Given the description of an element on the screen output the (x, y) to click on. 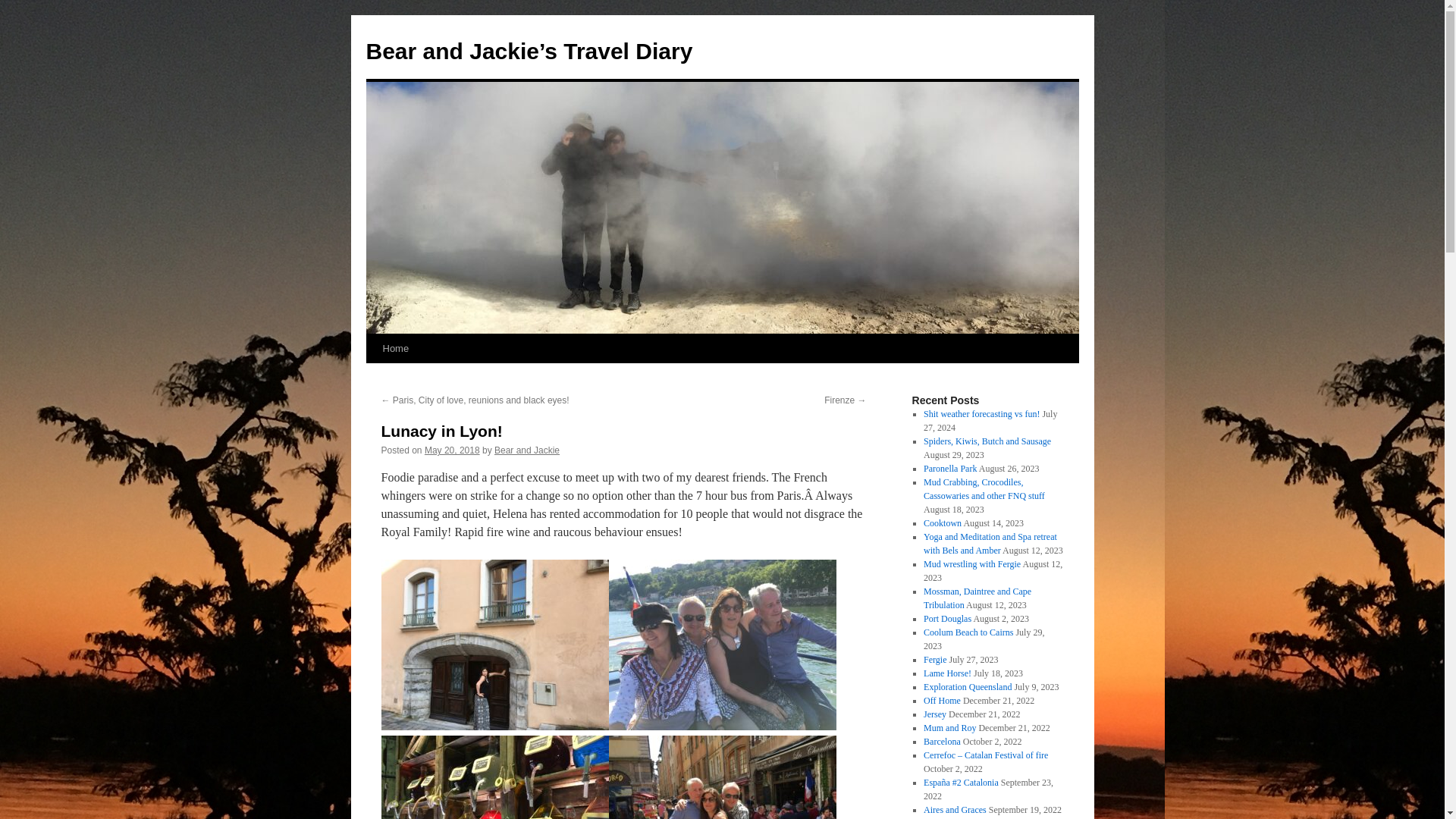
Exploration Queensland (967, 686)
Coolum Beach to Cairns (968, 632)
Yoga and Meditation and Spa retreat with Bels and Amber (990, 543)
Mum and Roy (949, 727)
View all posts by Bear and Jackie (527, 450)
Cooktown (941, 522)
Mud wrestling with Fergie (971, 563)
Home (395, 348)
Port Douglas (947, 618)
8:46 pm (452, 450)
